Given the description of an element on the screen output the (x, y) to click on. 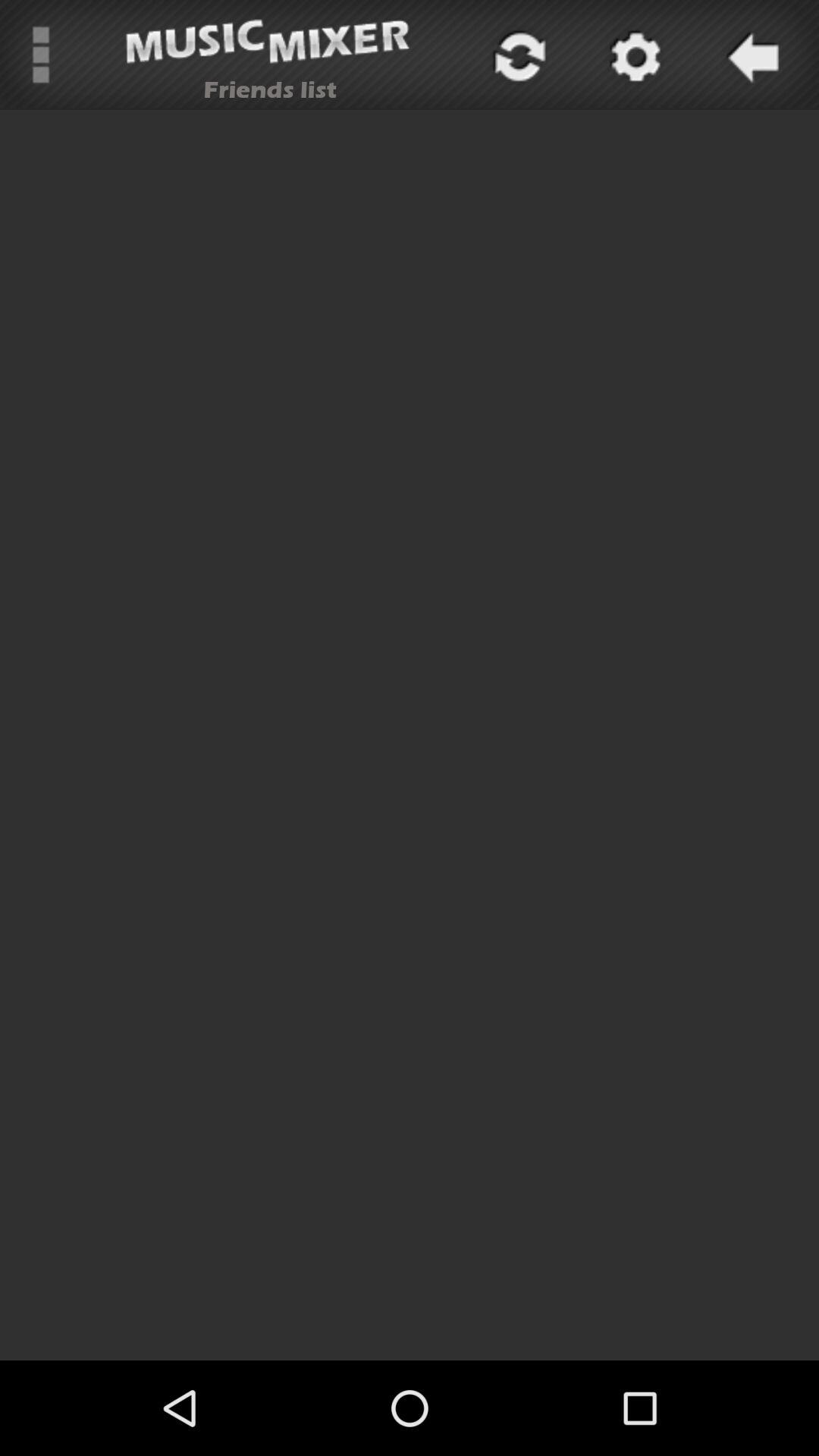
open settings (633, 54)
